Given the description of an element on the screen output the (x, y) to click on. 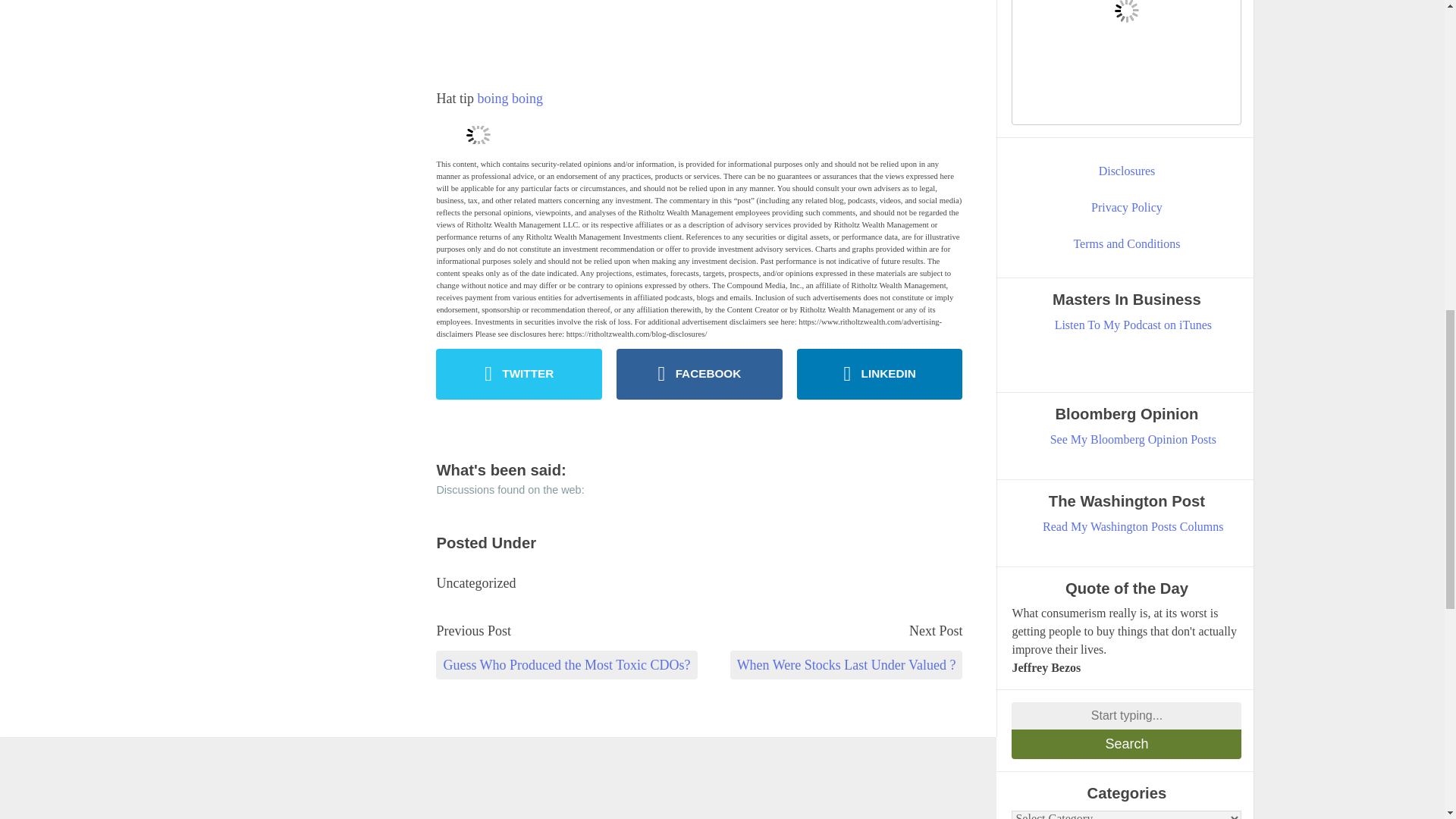
Privacy Policy (1126, 208)
See My Bloomberg Opinion Posts (1132, 439)
Search (1126, 744)
TWITTER (518, 373)
Listen To My Podcast on iTunes (1132, 325)
boing boing (510, 98)
When Were Stocks Last Under Valued ? (846, 664)
Search (1126, 744)
FACEBOOK (699, 373)
Guess Who Produced the Most Toxic CDOs? (566, 664)
